Given the description of an element on the screen output the (x, y) to click on. 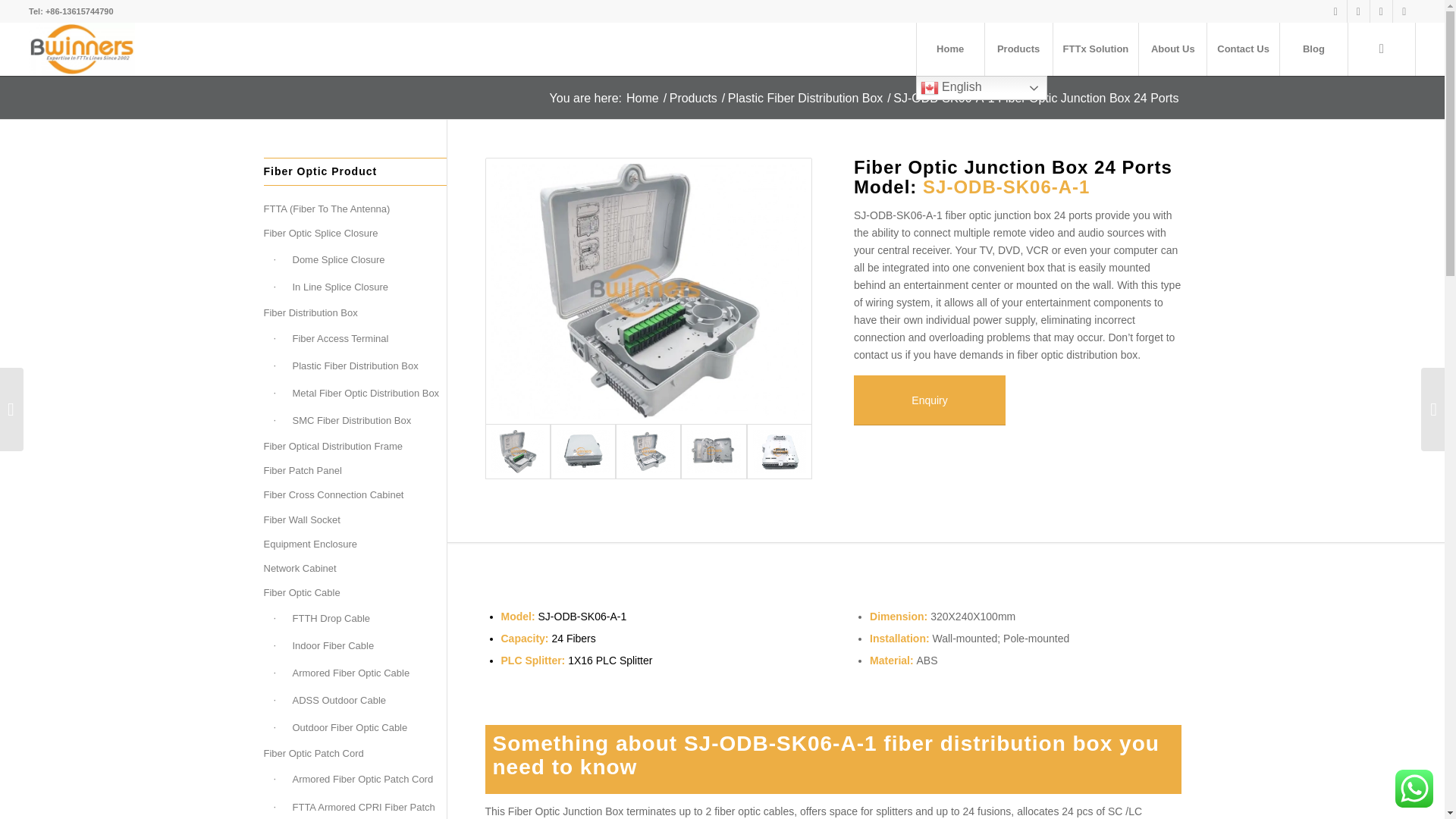
Facebook (1335, 11)
About Us (1172, 49)
LinkedIn (1380, 11)
Youtube (1359, 11)
Mail (1404, 11)
FTTx Solution (1095, 49)
Contact Us (1243, 49)
Blog (1313, 49)
Products (1018, 49)
Products (1018, 49)
